Given the description of an element on the screen output the (x, y) to click on. 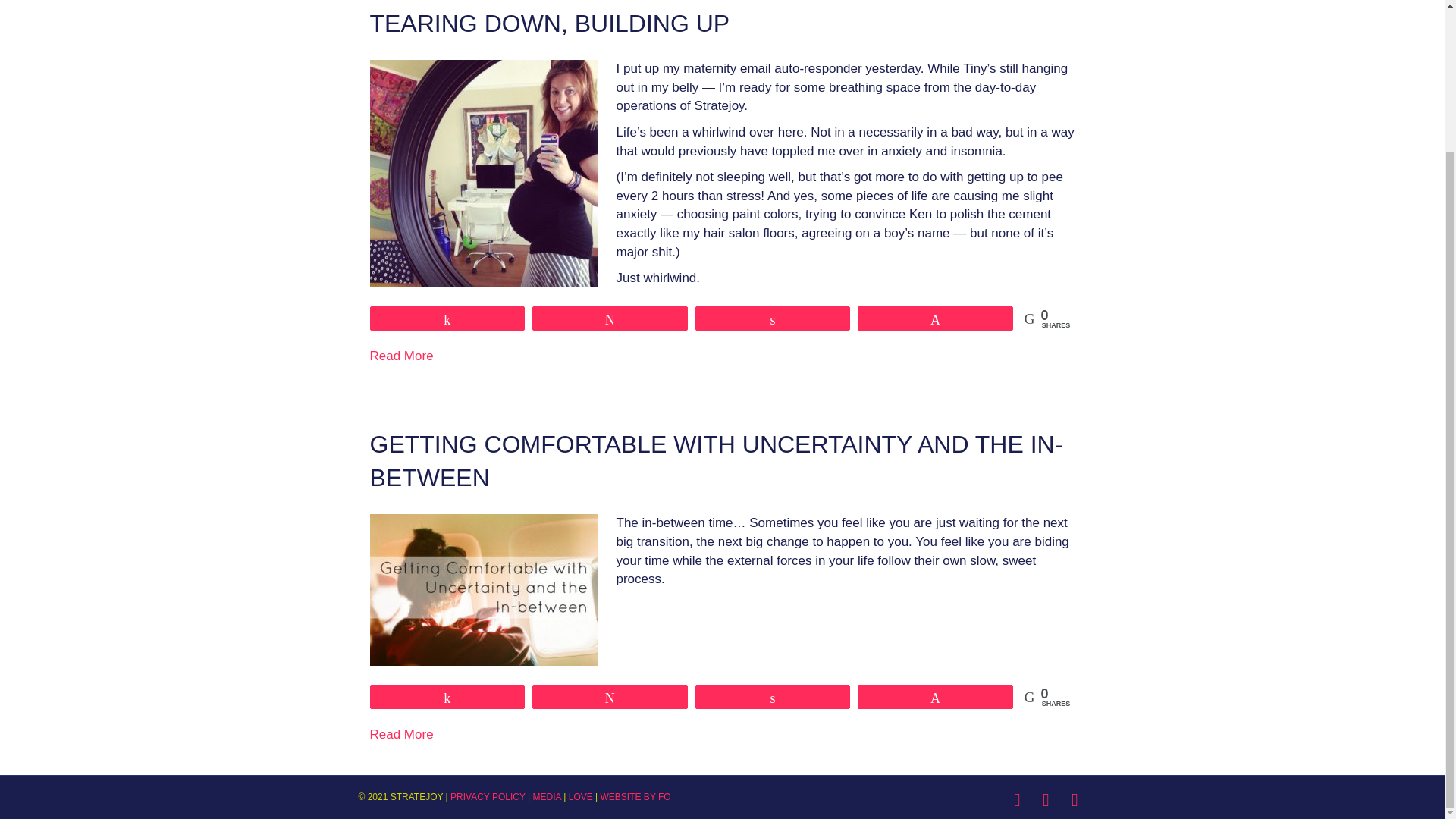
Tearing Down, Building Up (549, 22)
PRIVACY POLICY (487, 796)
Instagram (1045, 800)
Read More (401, 734)
MEDIA (546, 796)
Getting Comfortable with Uncertainty and the In-between (482, 589)
Read More (401, 355)
Getting Comfortable with Uncertainty and the In-between (715, 461)
Facebook (1016, 800)
TEARING DOWN, BUILDING UP (549, 22)
Tearing Down, Building Up (482, 172)
GETTING COMFORTABLE WITH UNCERTAINTY AND THE IN-BETWEEN (715, 461)
WEBSITE BY FO (635, 796)
LOVE (580, 796)
Email (1074, 800)
